Given the description of an element on the screen output the (x, y) to click on. 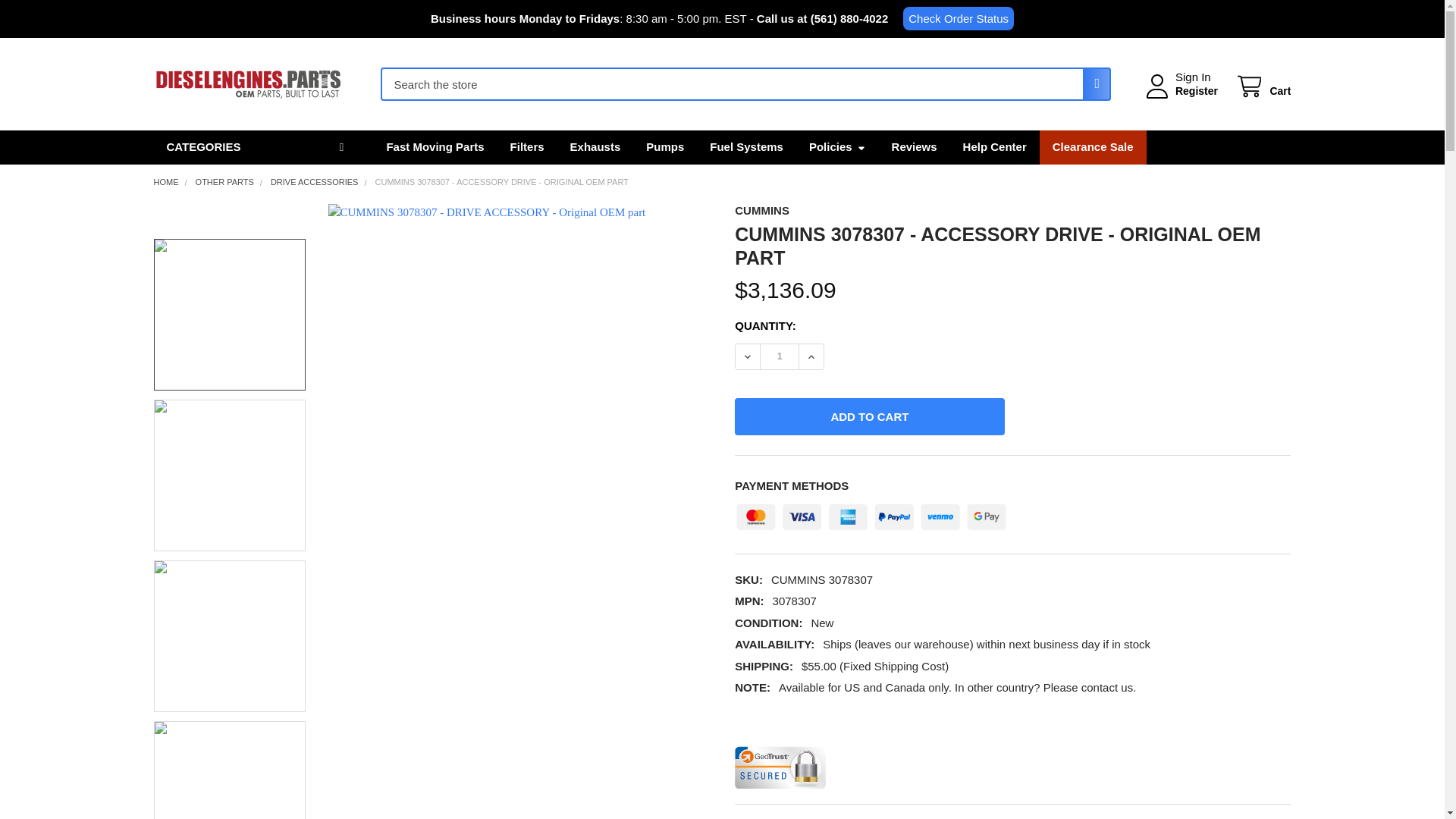
Add to Cart (869, 416)
Cart (1262, 86)
Cart (1262, 86)
Sign In (1192, 77)
Search (1092, 83)
CUMMINS 3078307 - DRIVE ACCESSORY - Original OEM part (229, 314)
CATEGORIES (255, 146)
Search (1092, 83)
Register (1195, 91)
Check Order Status (957, 18)
CUMMINS 3078307 - DRIVE ACCESSORY - Original OEM part (229, 475)
CUMMINS 3078307 - DRIVE ACCESSORY - Original OEM part (229, 770)
Payment Methods (871, 513)
1 (778, 356)
CUMMINS 3078307 - DRIVE ACCESSORY - Original OEM part (229, 636)
